Given the description of an element on the screen output the (x, y) to click on. 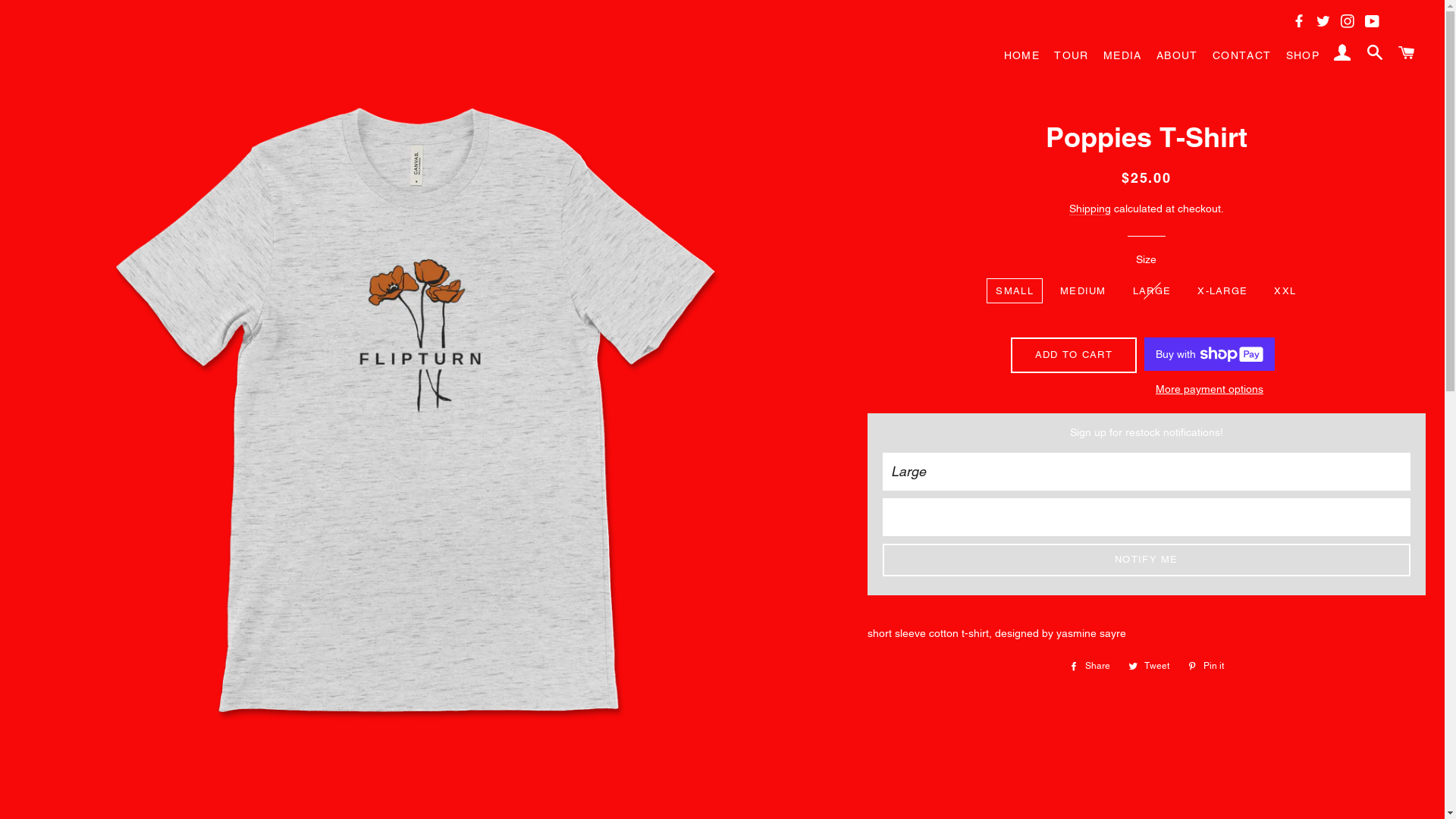
Tweet
Tweet on Twitter Element type: text (1148, 665)
ADD TO CART Element type: text (1073, 354)
flipturn on Twitter Element type: hover (1326, 22)
TOUR Element type: text (1071, 56)
LOG IN Element type: text (1342, 53)
MEDIA Element type: text (1122, 56)
SHOP Element type: text (1302, 56)
ABOUT Element type: text (1176, 56)
flipturn on Instagram Element type: hover (1350, 22)
Share
Share on Facebook Element type: text (1089, 665)
Pin it
Pin on Pinterest Element type: text (1205, 665)
SEARCH Element type: text (1374, 53)
Shipping Element type: text (1089, 208)
flipturn on YouTube Element type: hover (1375, 22)
flipturn on Facebook Element type: hover (1302, 22)
More payment options Element type: text (1209, 389)
HOME Element type: text (1021, 56)
CART Element type: text (1407, 53)
CONTACT Element type: text (1241, 56)
